Given the description of an element on the screen output the (x, y) to click on. 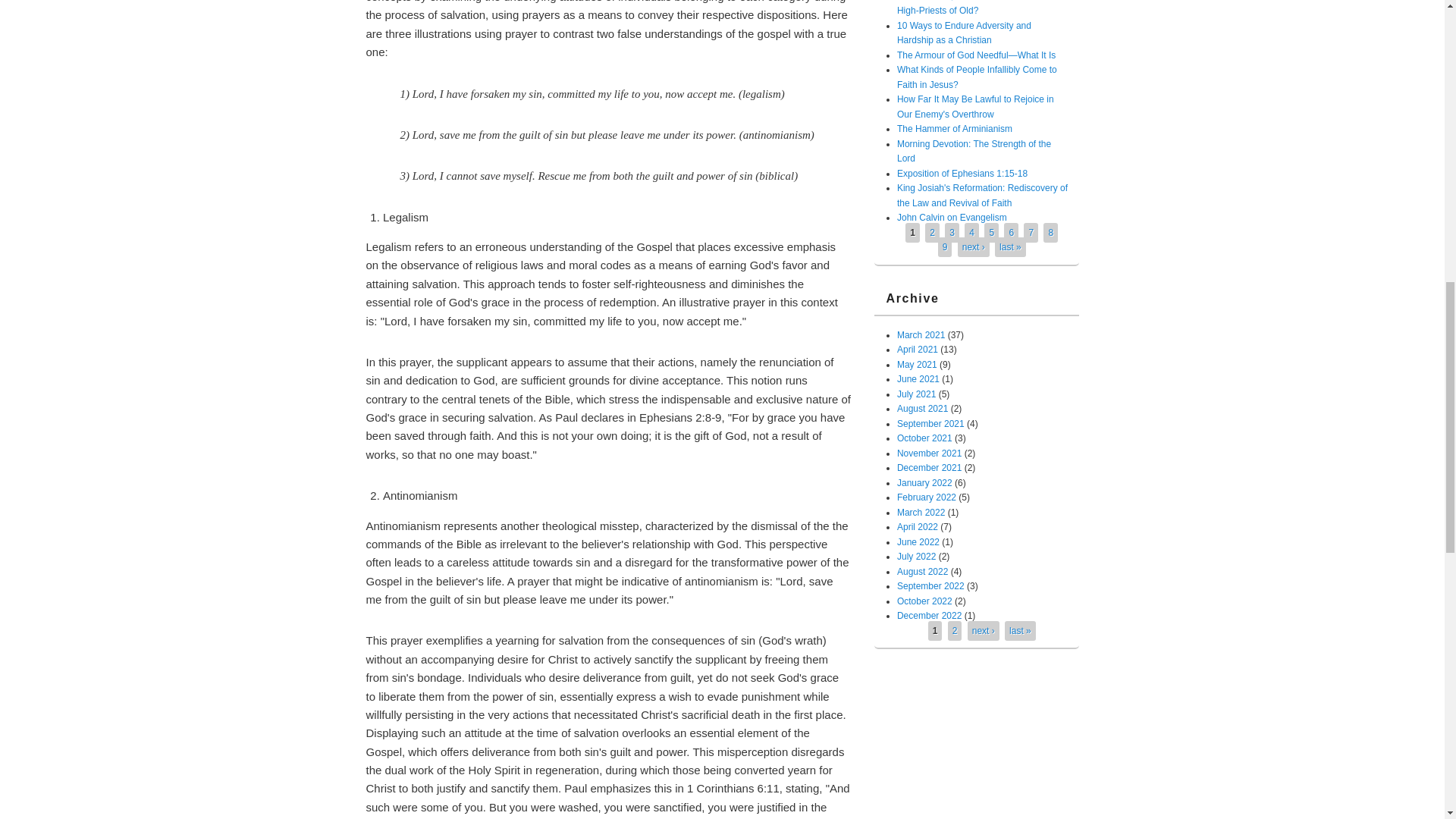
How Far It May Be Lawful to Rejoice in Our Enemy's Overthrow (975, 106)
8 (1050, 232)
Go to page 7 (1030, 232)
Go to page 2 (932, 232)
2 (932, 232)
3 (952, 232)
5 (991, 232)
Go to page 3 (952, 232)
Morning Devotion: The Strength of the Lord (973, 151)
Go to page 6 (1011, 232)
Go to next page (973, 246)
Go to last page (1019, 630)
Go to page 2 (955, 630)
Go to last page (1010, 246)
Go to page 8 (1050, 232)
